Given the description of an element on the screen output the (x, y) to click on. 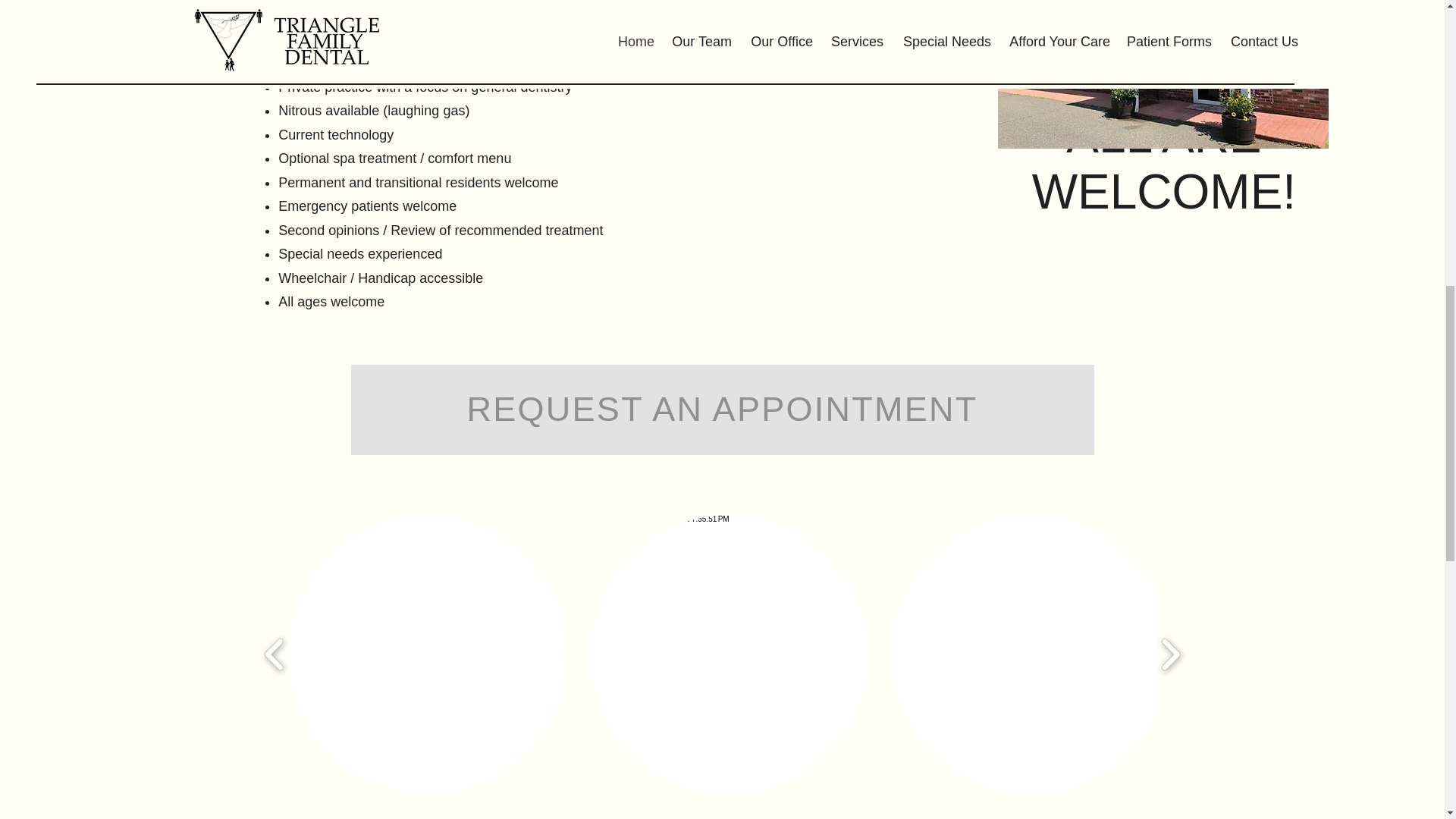
REQUEST AN APPOINTMENT (721, 408)
